Given the description of an element on the screen output the (x, y) to click on. 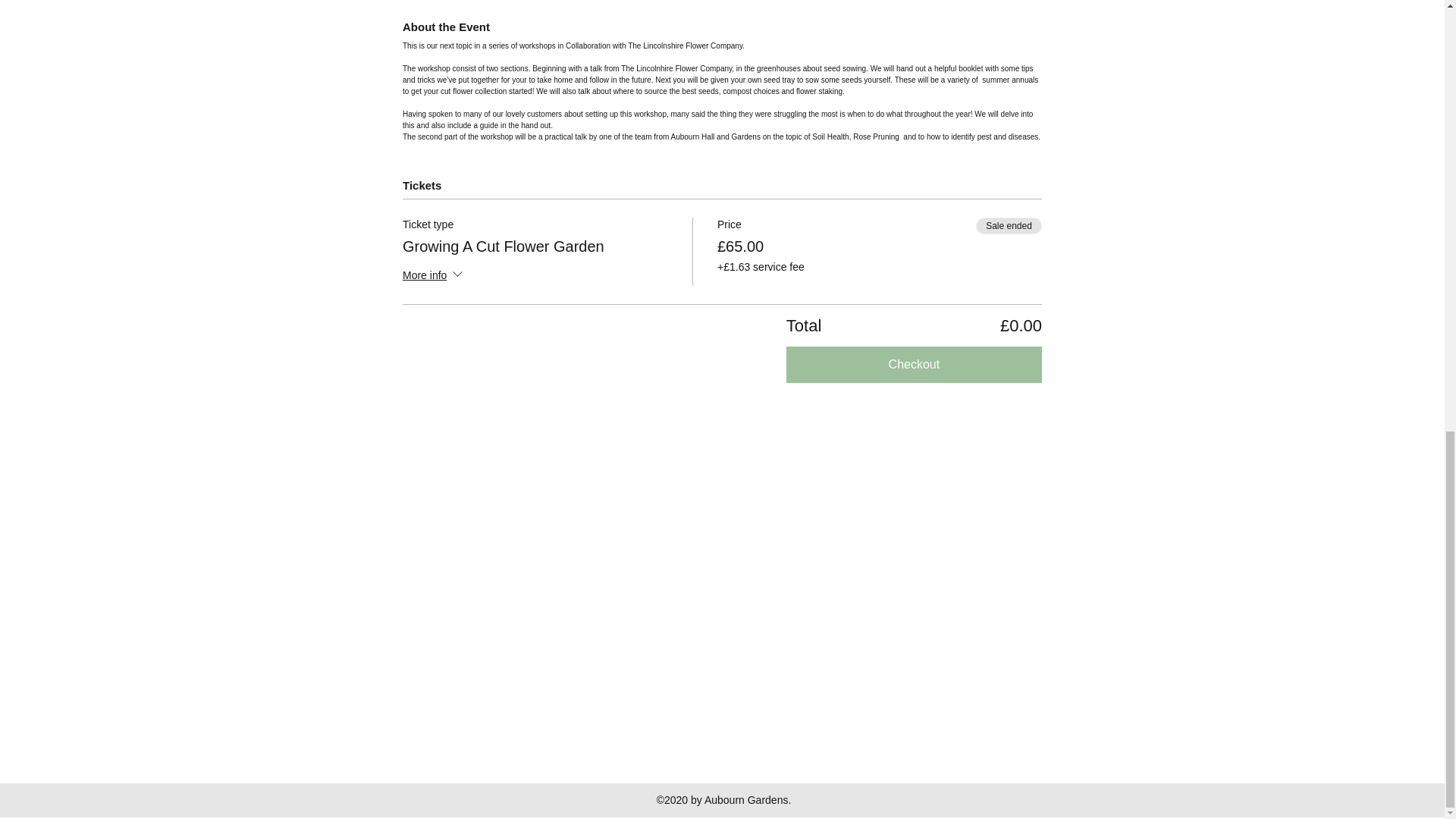
Checkout (914, 364)
More info (434, 276)
